Given the description of an element on the screen output the (x, y) to click on. 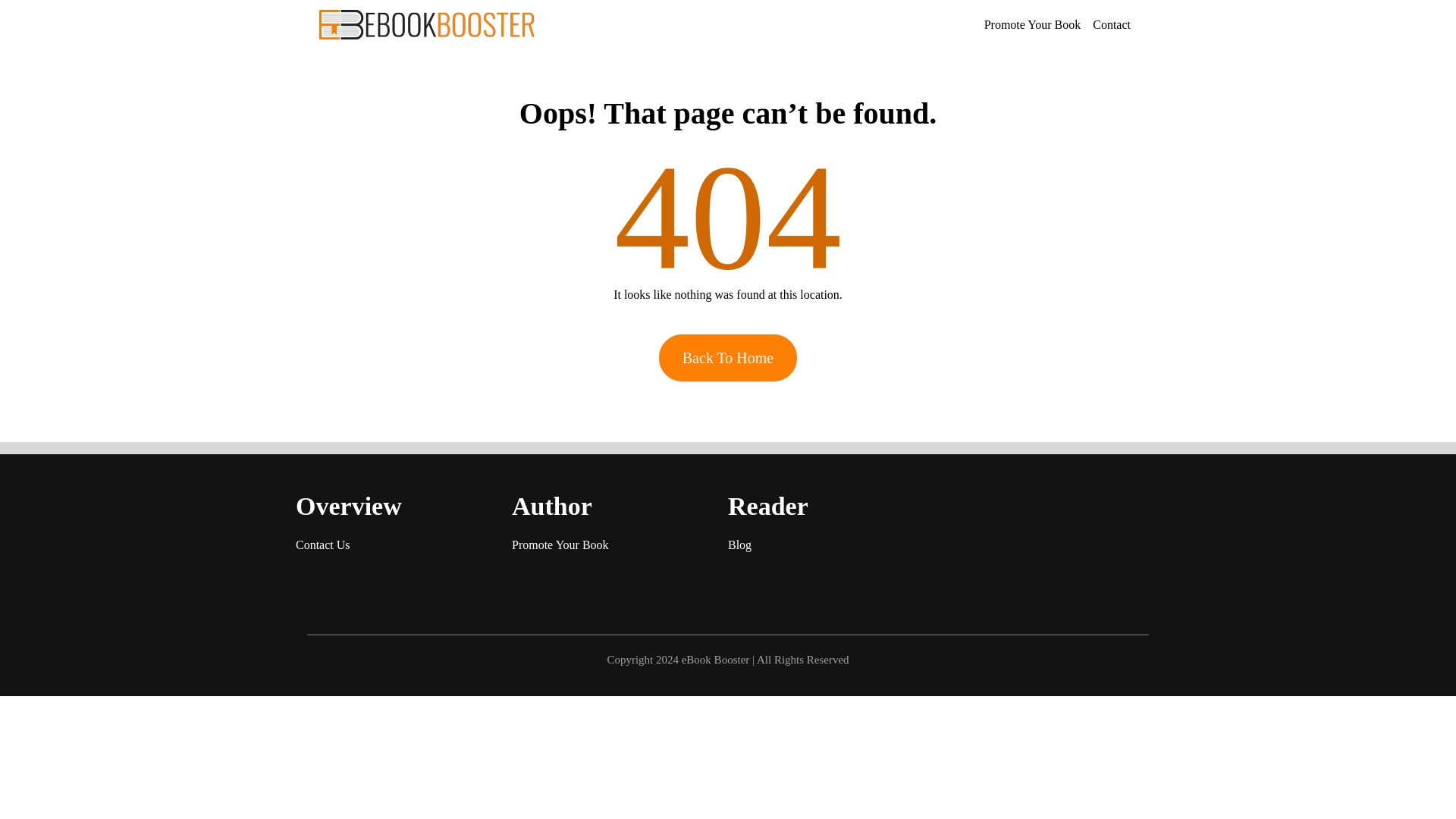
Promote Your Book (560, 544)
Back To Home (727, 357)
Promote Your Book (1032, 24)
Contact (1111, 24)
Blog (739, 544)
Contact Us (322, 544)
